Given the description of an element on the screen output the (x, y) to click on. 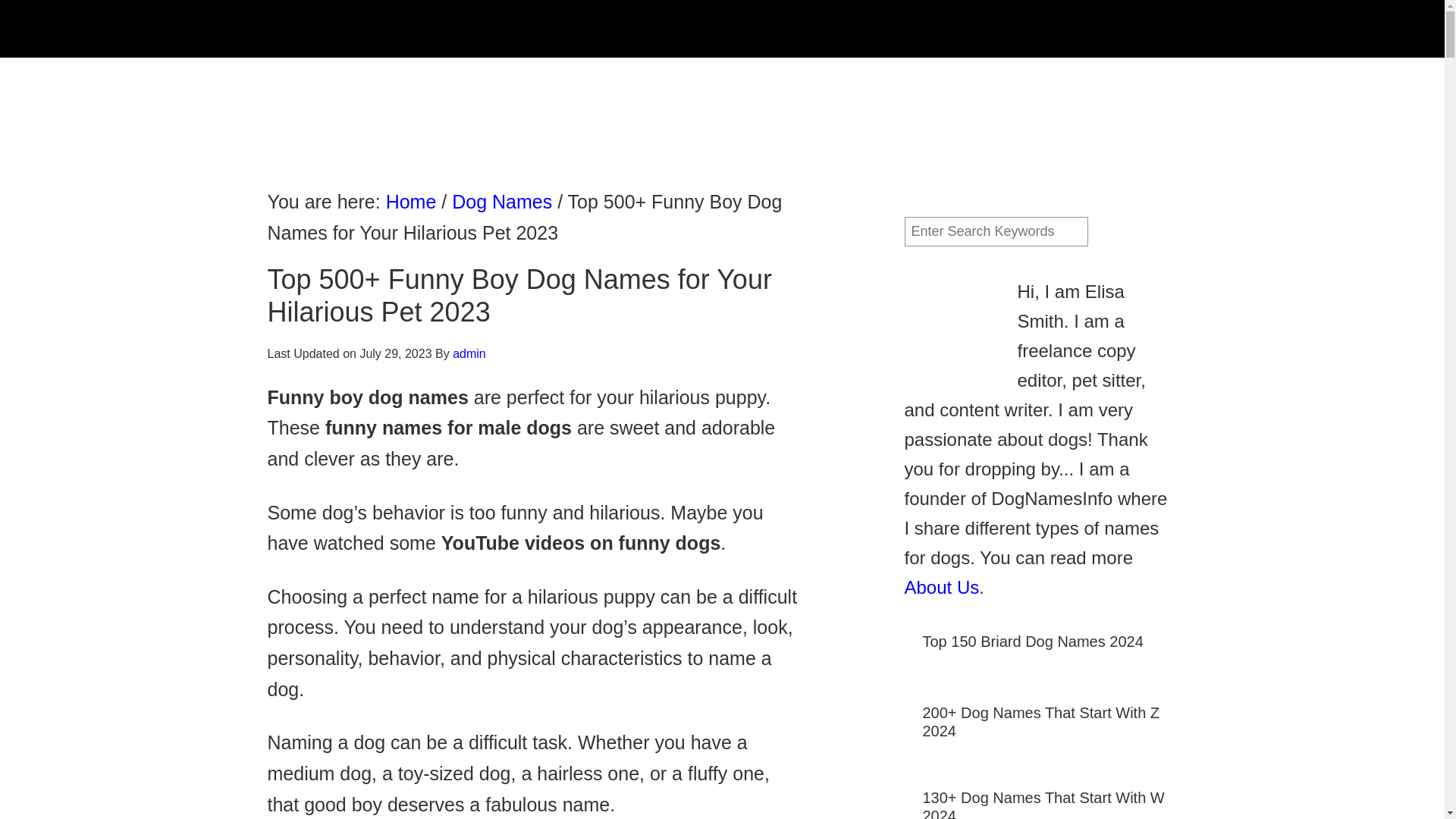
Gravatar for admin (951, 323)
Dog Names (501, 201)
admin (469, 353)
Home (410, 201)
Dog Names Info (403, 28)
